Given the description of an element on the screen output the (x, y) to click on. 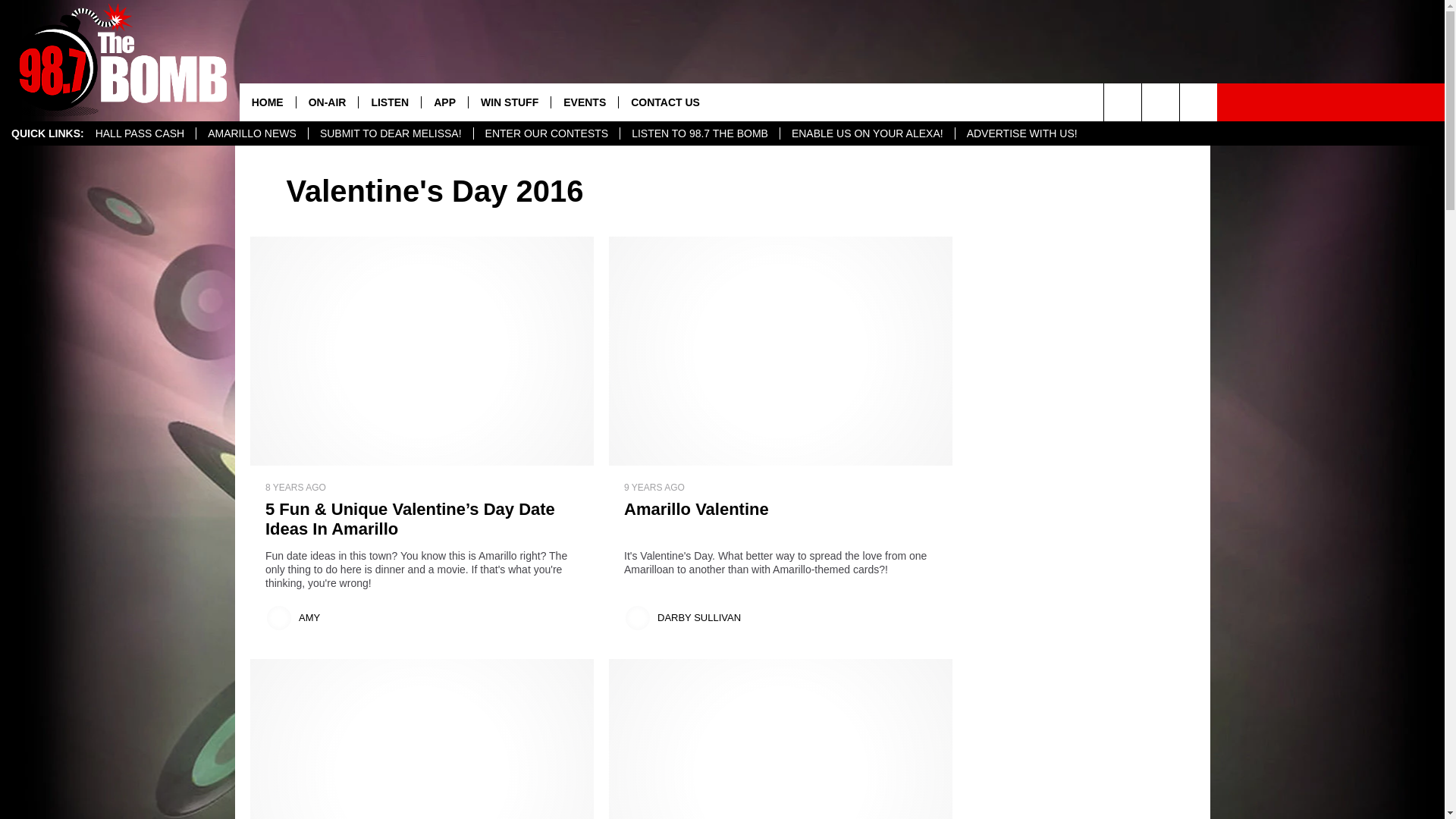
AMARILLO NEWS (251, 133)
SUBMIT TO DEAR MELISSA! (390, 133)
LISTEN TO 98.7 THE BOMB (699, 133)
ON-AIR (326, 102)
ENABLE US ON YOUR ALEXA! (866, 133)
APP (443, 102)
HALL PASS CASH (140, 133)
HOME (267, 102)
EVENTS (583, 102)
ENTER OUR CONTESTS (546, 133)
